Given the description of an element on the screen output the (x, y) to click on. 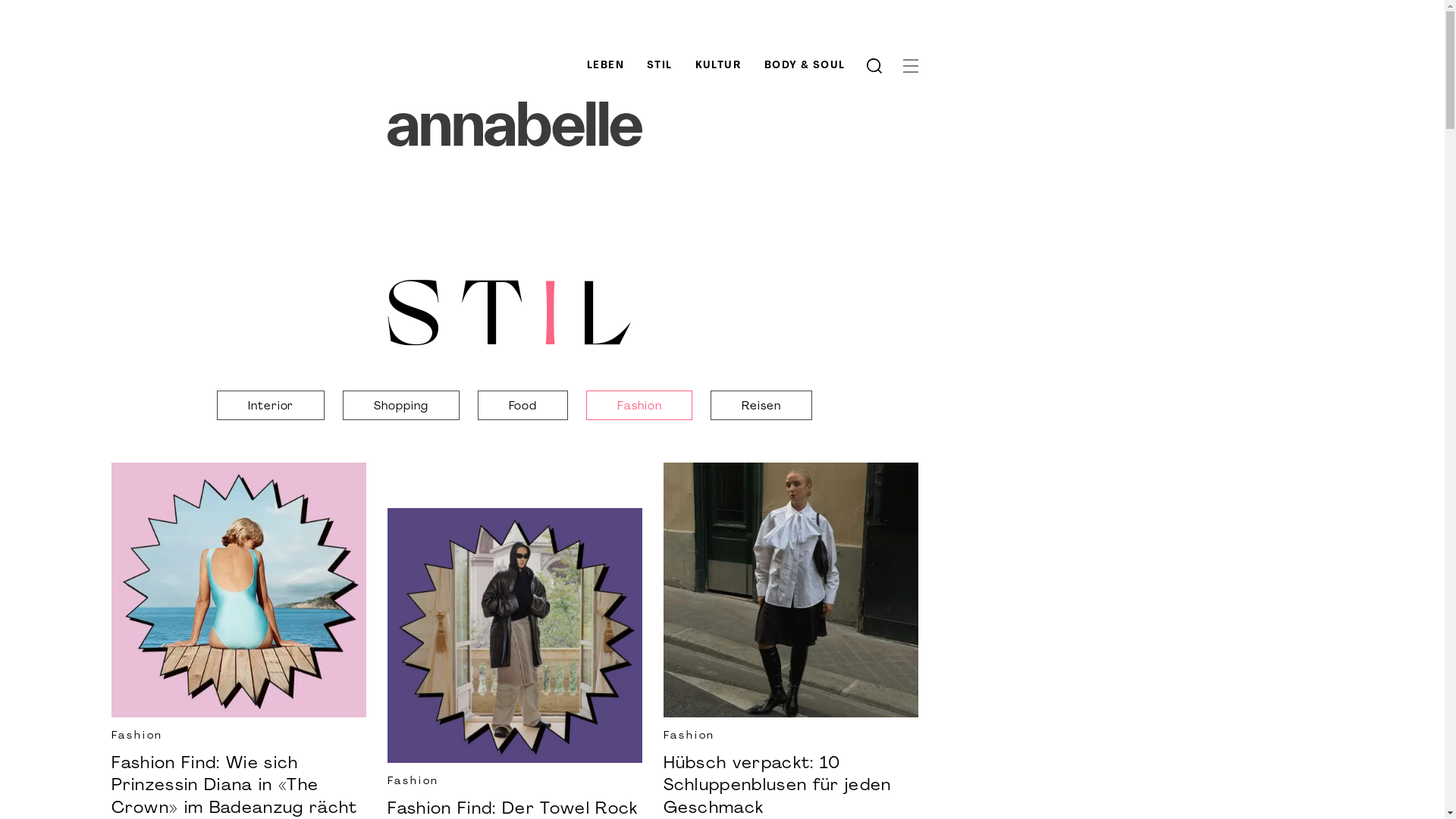
KULTUR Element type: text (718, 65)
STIL Element type: text (514, 316)
BODY & SOUL Element type: text (804, 65)
Interior Element type: text (270, 406)
Fashion Element type: text (237, 736)
Fashion Element type: text (789, 736)
Reisen Element type: text (760, 406)
STIL Element type: text (659, 65)
LEBEN Element type: text (605, 65)
Shopping Element type: text (400, 406)
Food Element type: text (522, 406)
Fashion Element type: text (513, 782)
Fashion Element type: text (639, 406)
